Given the description of an element on the screen output the (x, y) to click on. 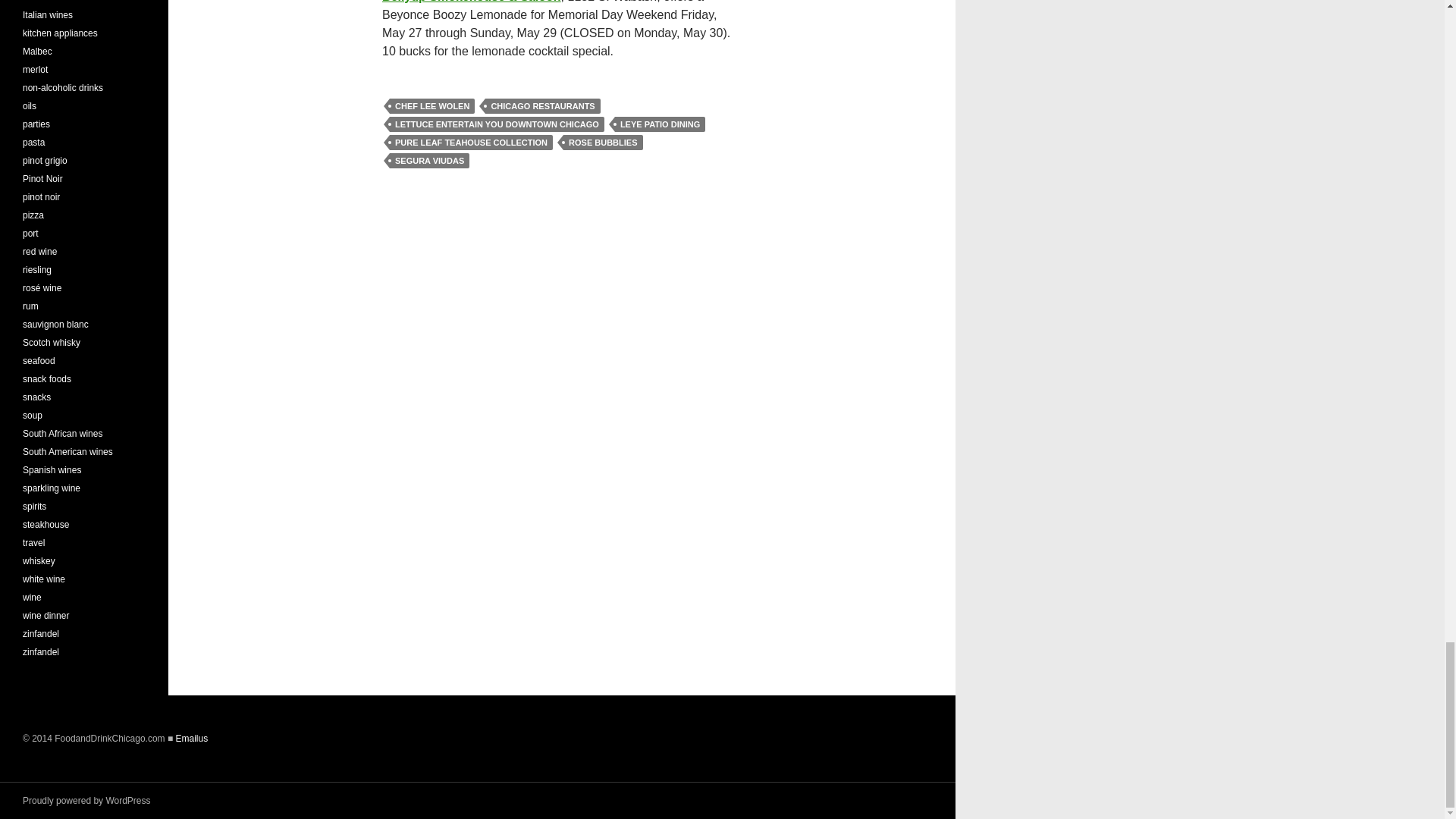
CHEF LEE WOLEN (432, 105)
